Given the description of an element on the screen output the (x, y) to click on. 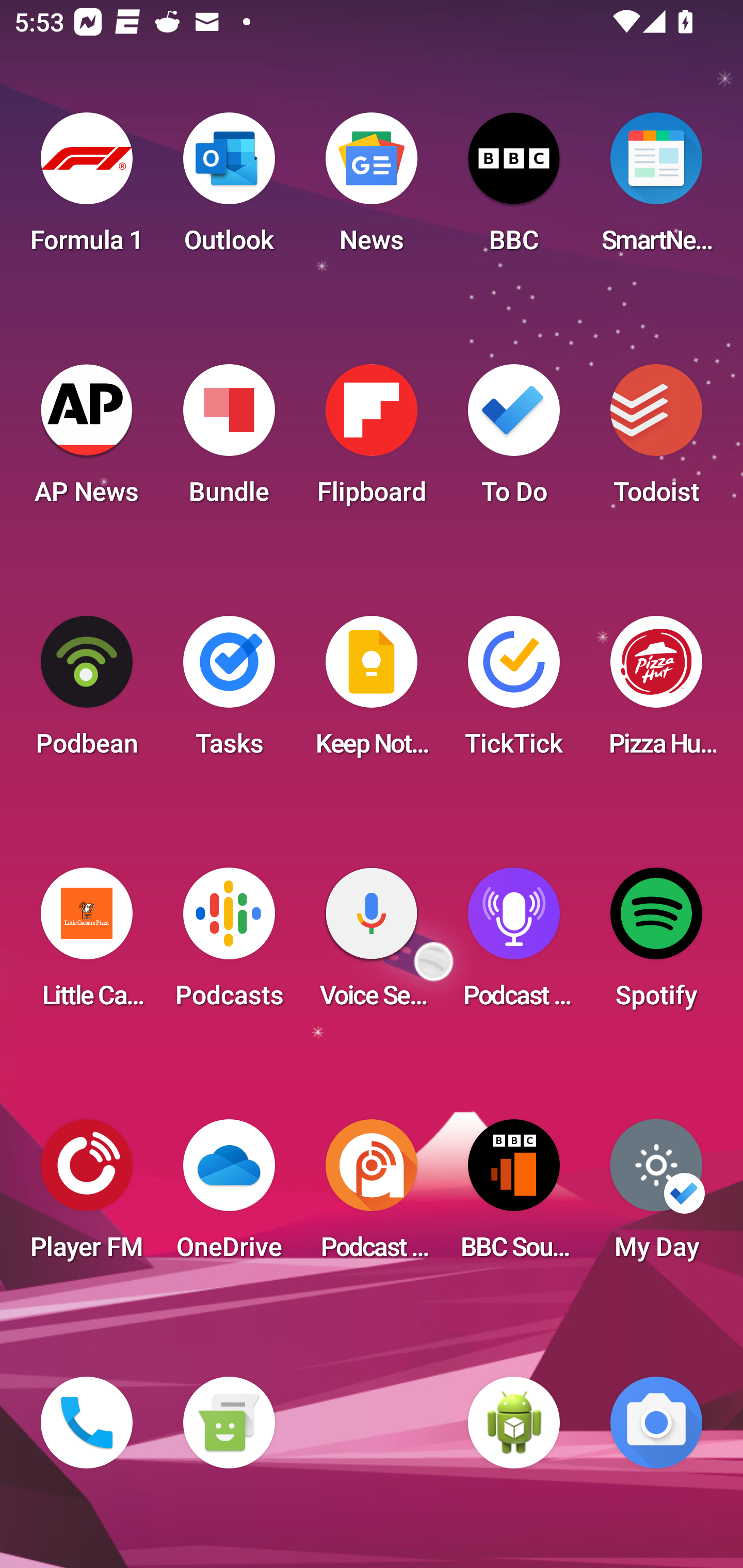
Formula 1 (86, 188)
Outlook (228, 188)
News (371, 188)
BBC (513, 188)
SmartNews (656, 188)
AP News (86, 440)
Bundle (228, 440)
Flipboard (371, 440)
To Do (513, 440)
Todoist (656, 440)
Podbean (86, 692)
Tasks (228, 692)
Keep Notes (371, 692)
TickTick (513, 692)
Pizza Hut HK & Macau (656, 692)
Little Caesars Pizza (86, 943)
Podcasts (228, 943)
Voice Search (371, 943)
Podcast Player (513, 943)
Spotify (656, 943)
Player FM (86, 1195)
OneDrive (228, 1195)
Podcast Addict (371, 1195)
BBC Sounds (513, 1195)
My Day (656, 1195)
Phone (86, 1422)
Messaging (228, 1422)
WebView Browser Tester (513, 1422)
Camera (656, 1422)
